Given the description of an element on the screen output the (x, y) to click on. 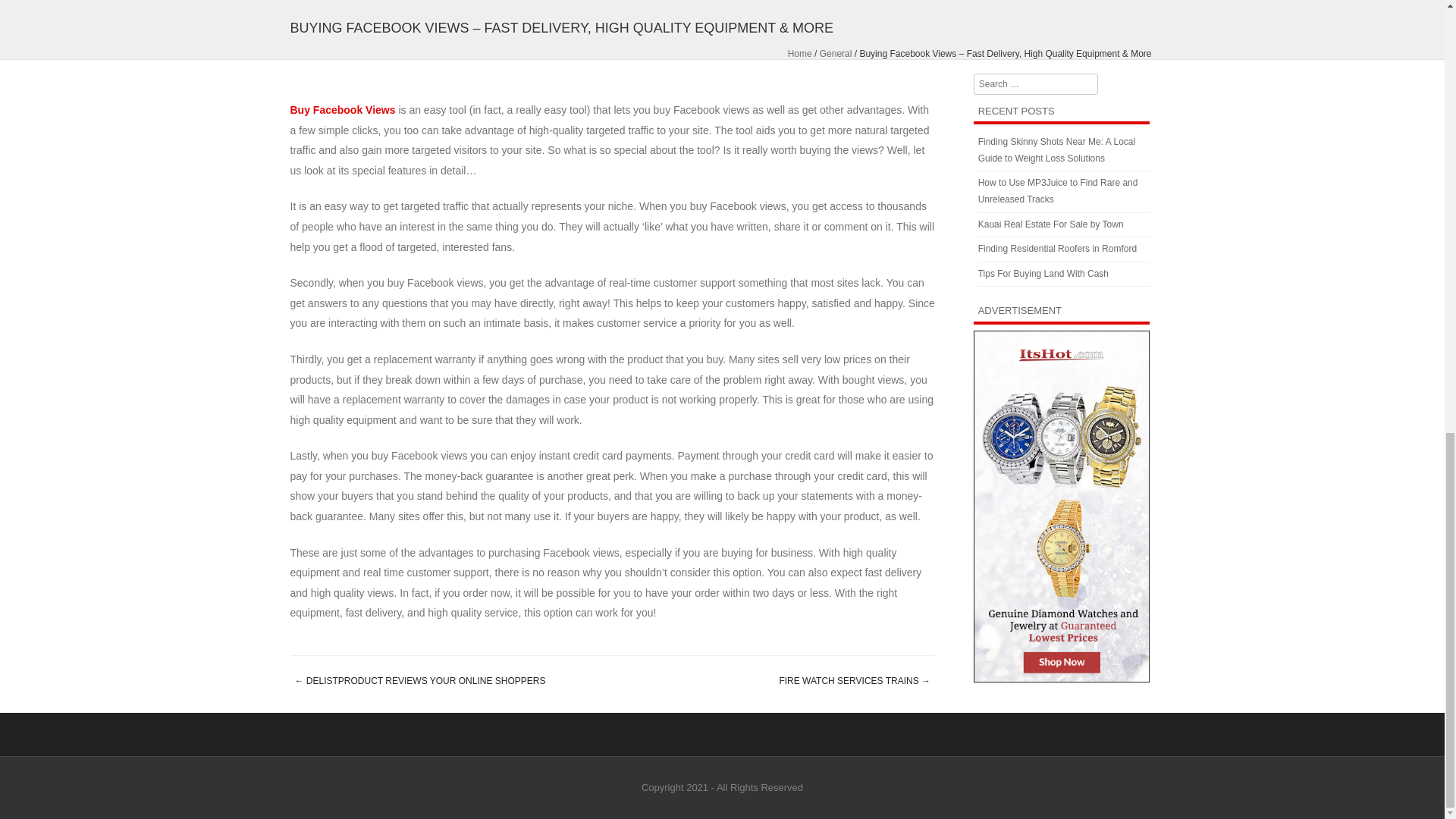
General (835, 53)
How to Use MP3Juice to Find Rare and Unreleased Tracks (1058, 190)
Kauai Real Estate For Sale by Town (1051, 224)
Finding Residential Roofers in Romford (1057, 248)
Home (799, 53)
Buy Facebook Views (341, 110)
Tips For Buying Land With Cash (1043, 273)
